Given the description of an element on the screen output the (x, y) to click on. 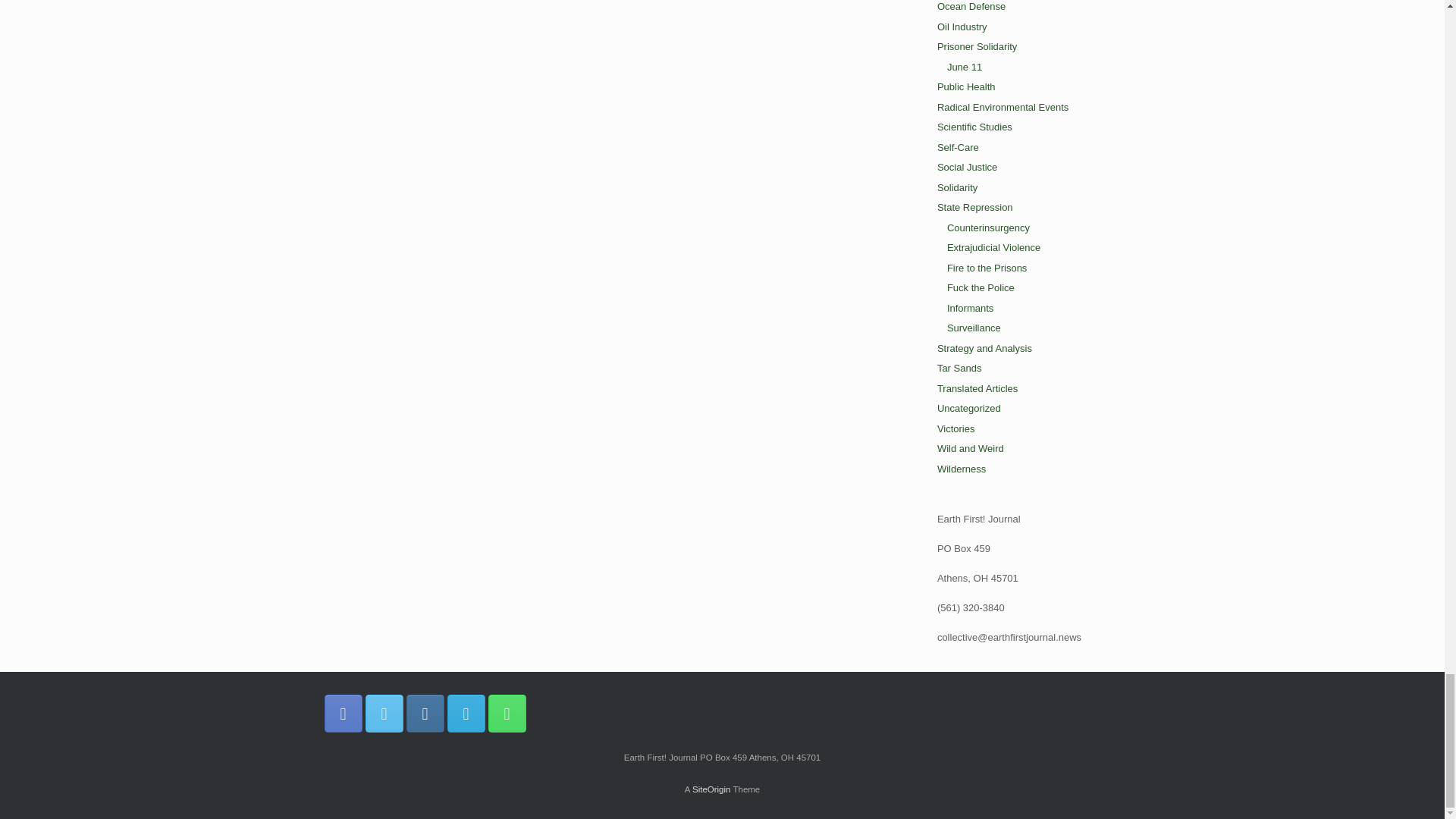
Earth First! Journal Facebook (343, 712)
Earth First! Journal Email (465, 712)
Earth First! Journal Phone (506, 712)
Earth First! Journal Twitter (384, 712)
Earth First! Journal Instagram (425, 712)
